Given the description of an element on the screen output the (x, y) to click on. 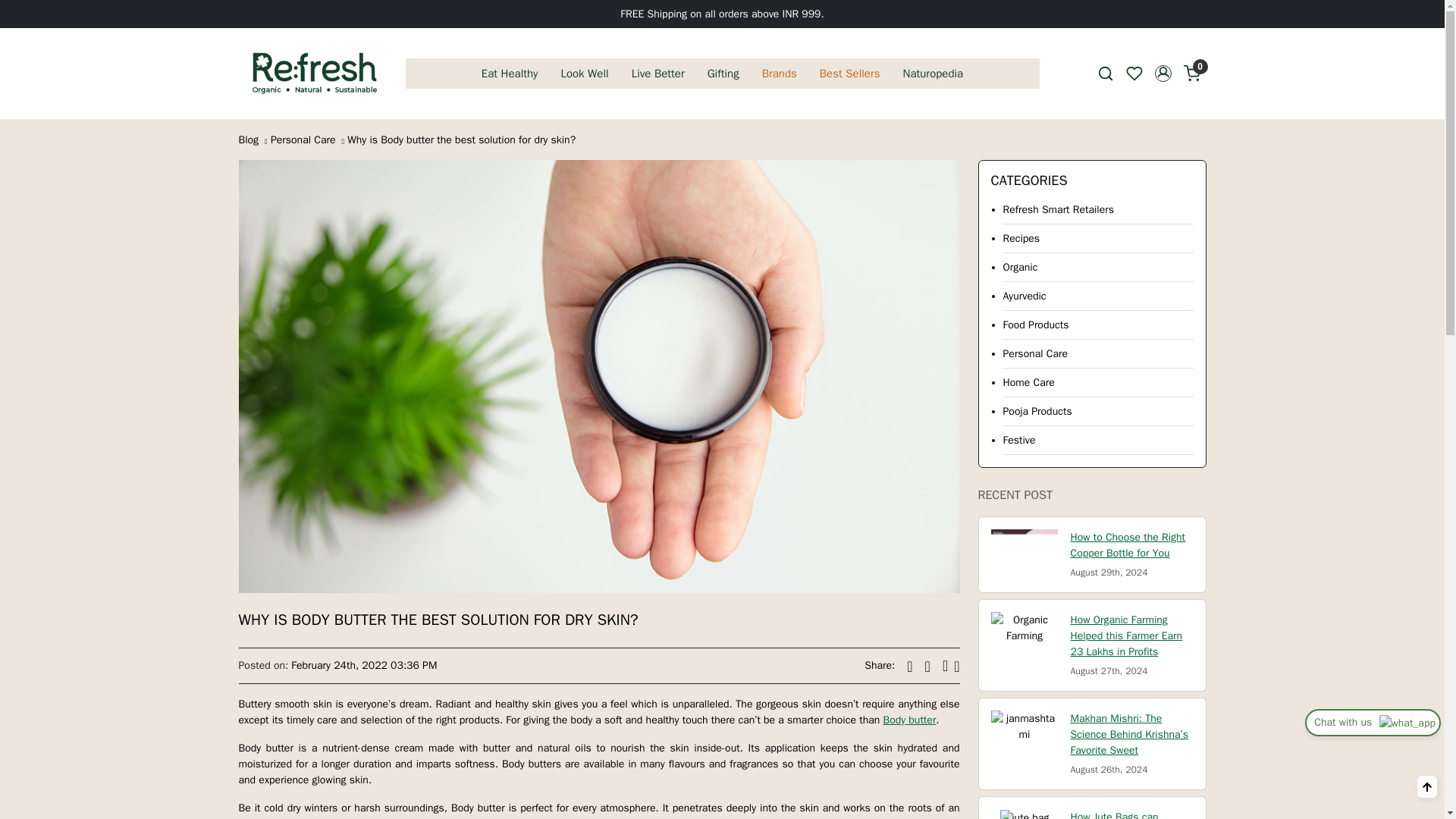
Shopping Bag (1190, 73)
Eat Healthy (510, 73)
Look Well (584, 73)
Home (314, 73)
